Given the description of an element on the screen output the (x, y) to click on. 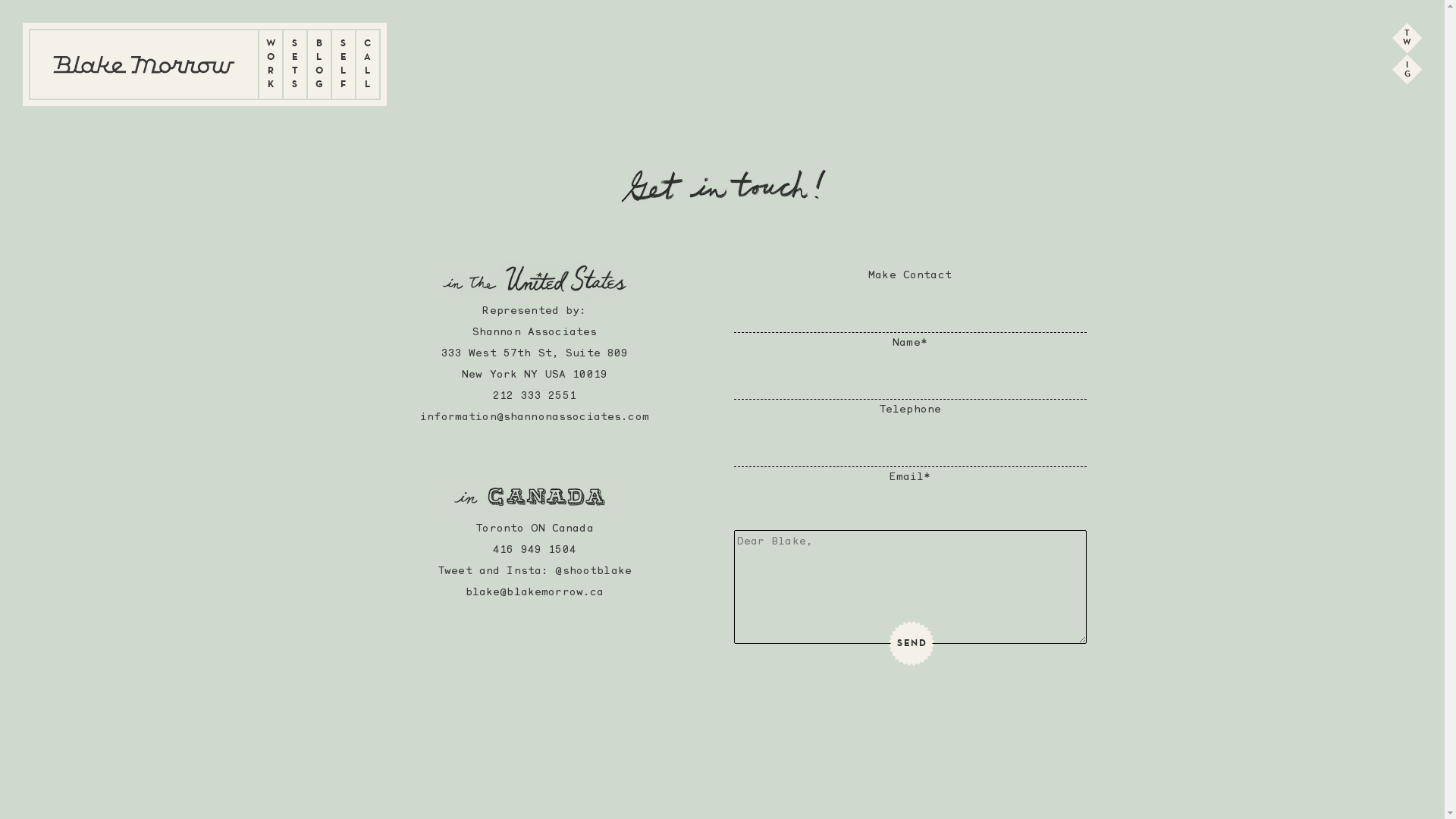
TW Element type: text (1407, 37)
information@shannonassociates.com Element type: text (534, 417)
Send Element type: text (912, 643)
blake@blakemorrow.ca Element type: text (534, 592)
Tweet Element type: text (454, 571)
B
L
O
G Element type: text (318, 64)
W
O
R
K Element type: text (270, 64)
S
E
T
S Element type: text (294, 64)
S
E
L
F Element type: text (343, 64)
C
A
L
L Element type: text (367, 64)
I
G Element type: text (1407, 69)
Insta Element type: text (523, 571)
BM_HANDWRITING_3 Element type: hover (721, 185)
inCanada Element type: hover (534, 498)
inUSA Element type: hover (534, 281)
